Given the description of an element on the screen output the (x, y) to click on. 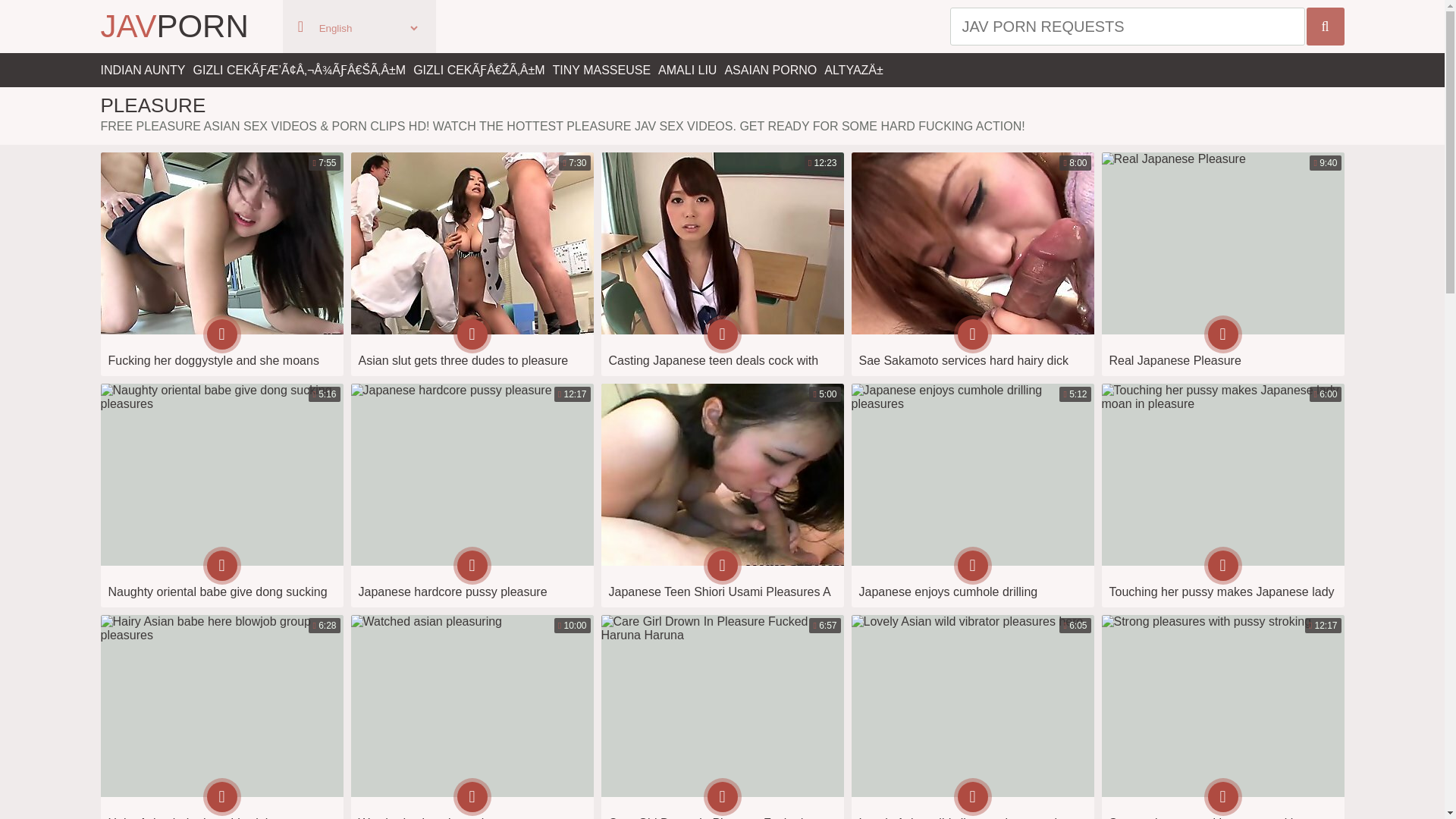
Japanese hardcore pussy pleasure (1221, 717)
JAVPORN (471, 495)
Sae Sakamoto services hard hairy dick with pleasure (173, 26)
INDIAN AUNTY (1221, 263)
Naughty oriental babe give dong sucking pleasures (721, 495)
Casting Japanese teen deals cock with great pleasure (971, 263)
